Given the description of an element on the screen output the (x, y) to click on. 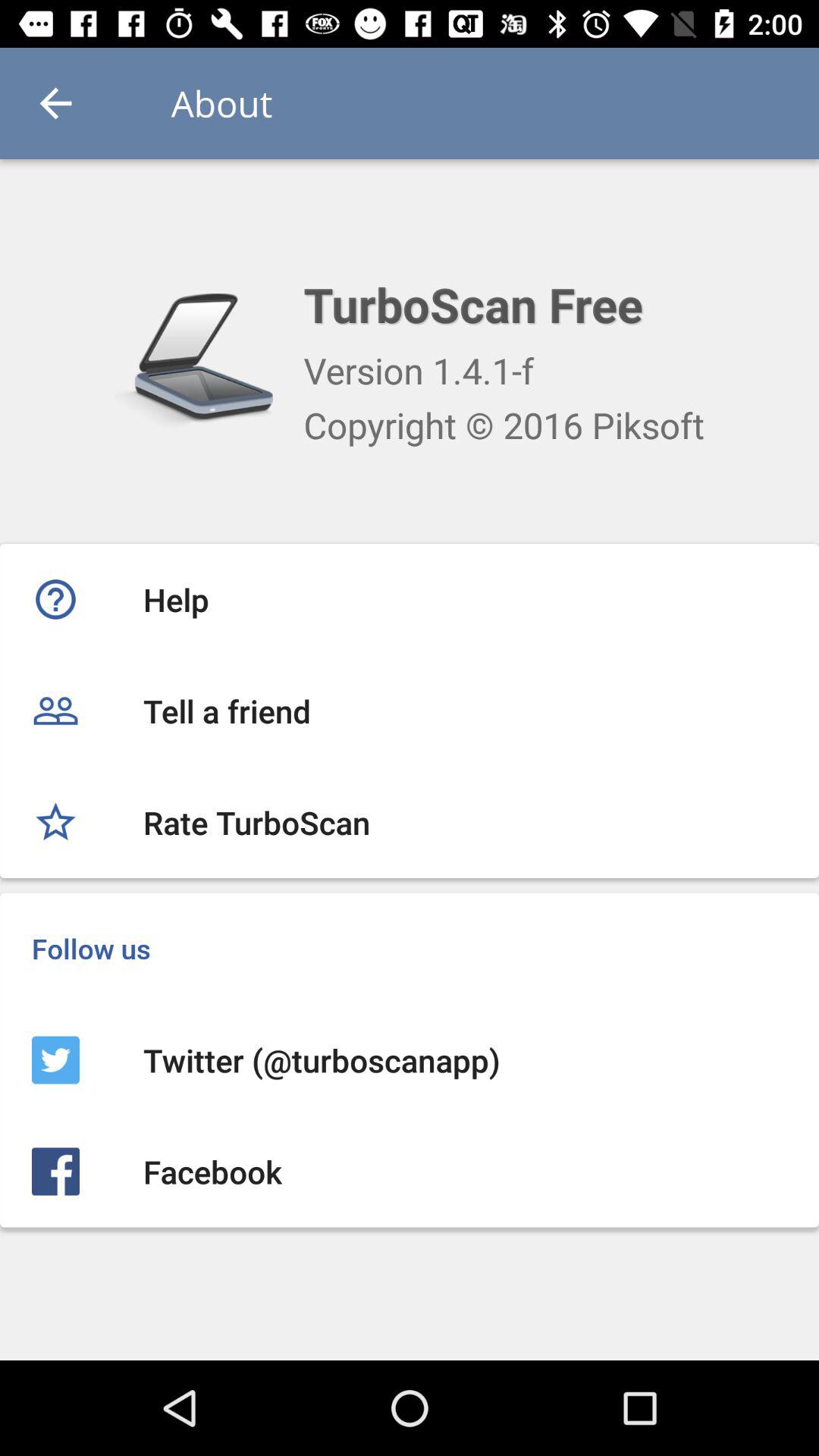
turn off rate turboscan item (409, 822)
